Given the description of an element on the screen output the (x, y) to click on. 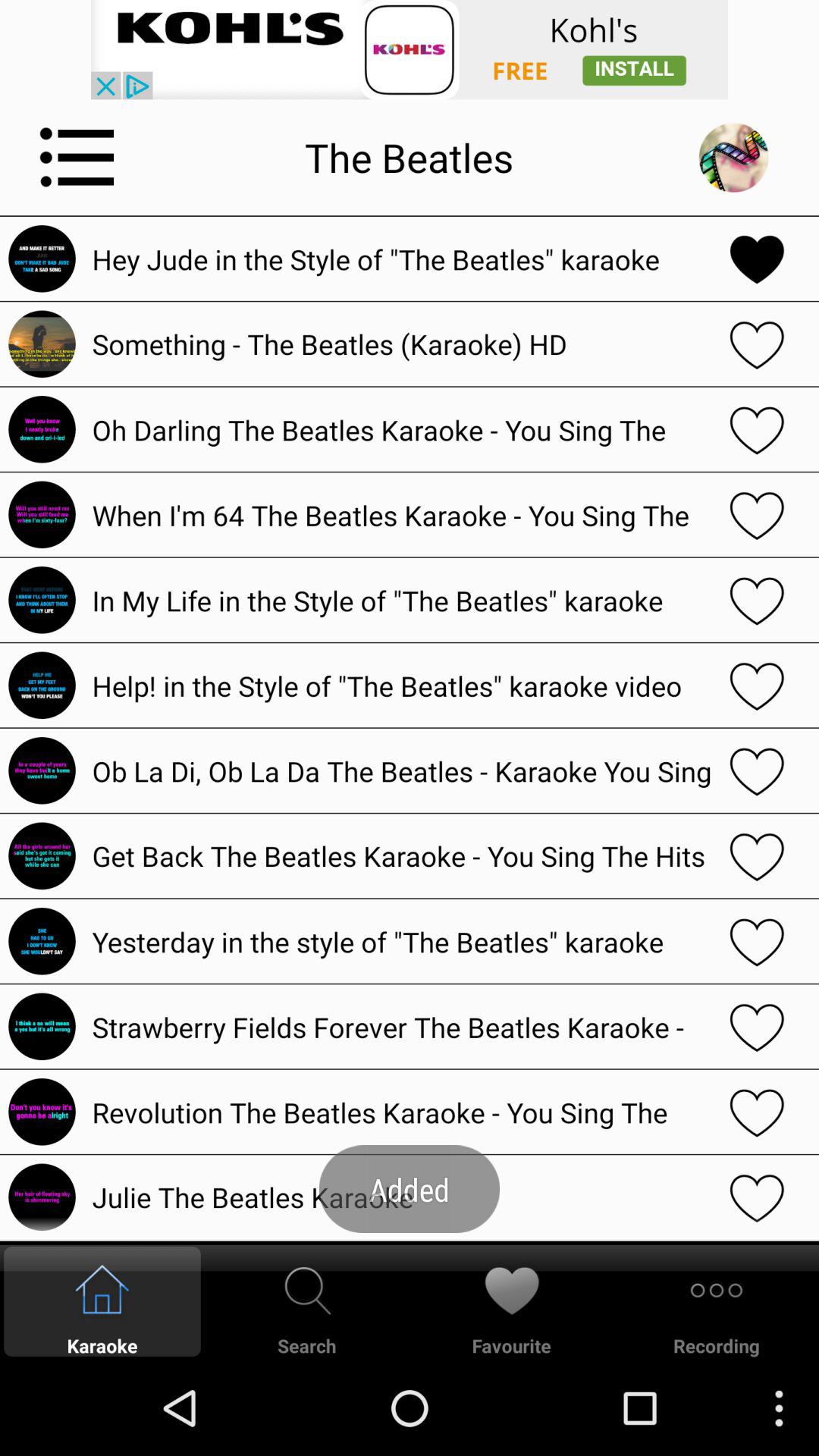
toggle favorite song (756, 343)
